Given the description of an element on the screen output the (x, y) to click on. 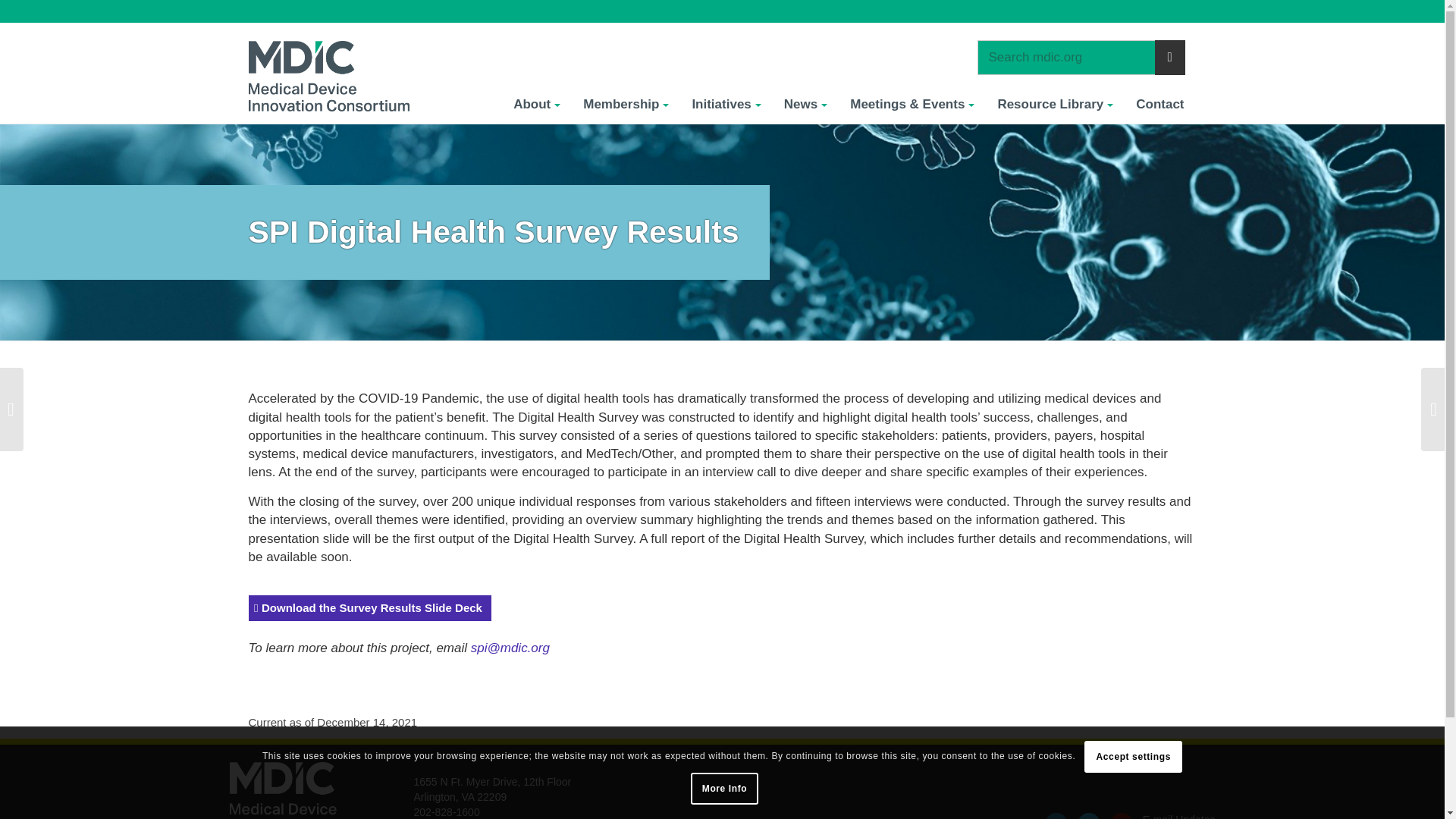
Initiatives (725, 104)
LinkedIn (1056, 816)
X (1088, 816)
Permanent Link: SPI Digital Health Survey Results (493, 231)
Membership (625, 104)
See our Privacy Policy (724, 788)
About (537, 104)
Youtube (1120, 816)
